Given the description of an element on the screen output the (x, y) to click on. 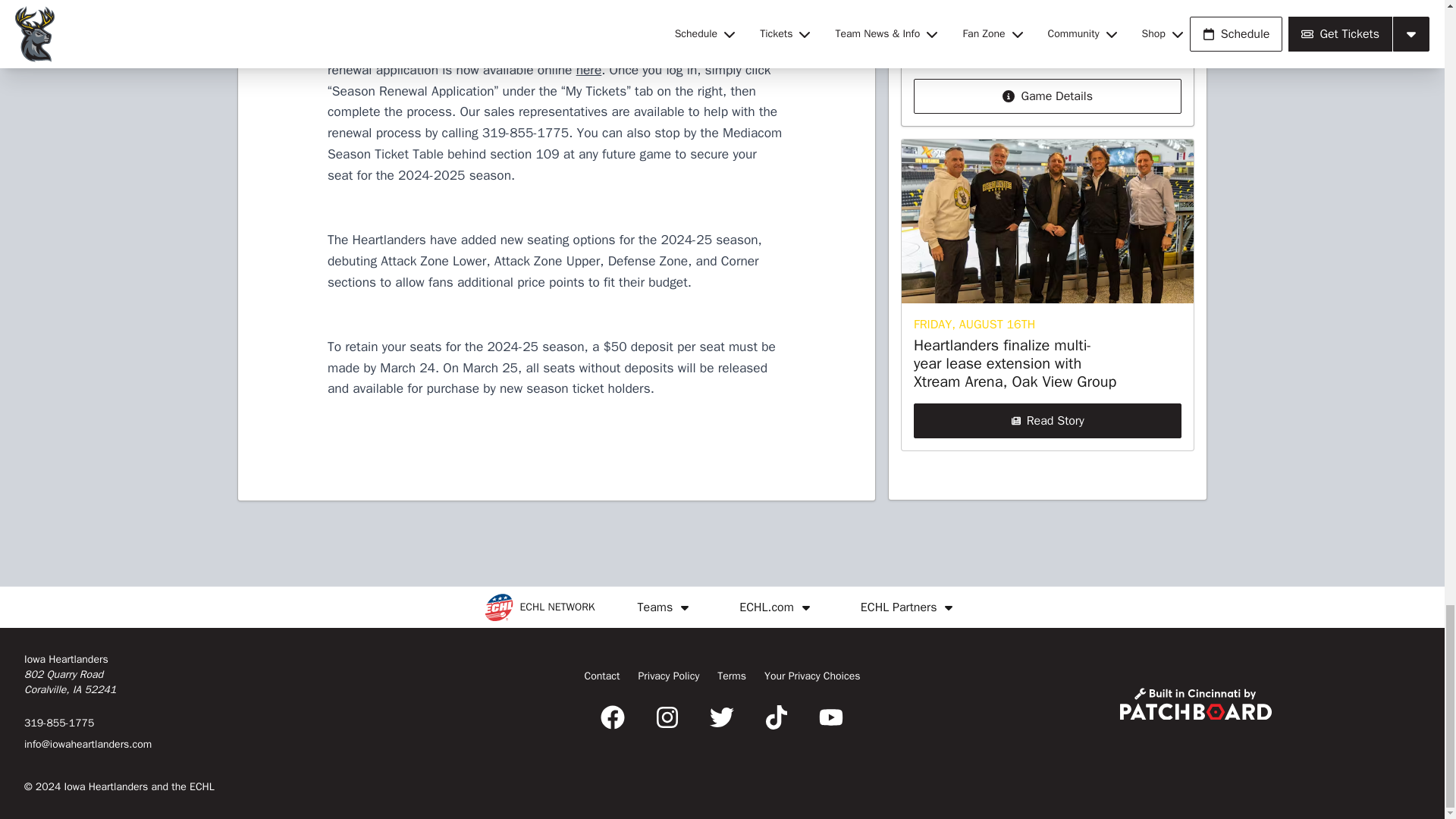
Built in Cincinnati by Patchboard (1195, 703)
Instagram (667, 717)
TikTok (776, 717)
Facebook (612, 717)
YouTube (830, 717)
Twitter (721, 717)
